Given the description of an element on the screen output the (x, y) to click on. 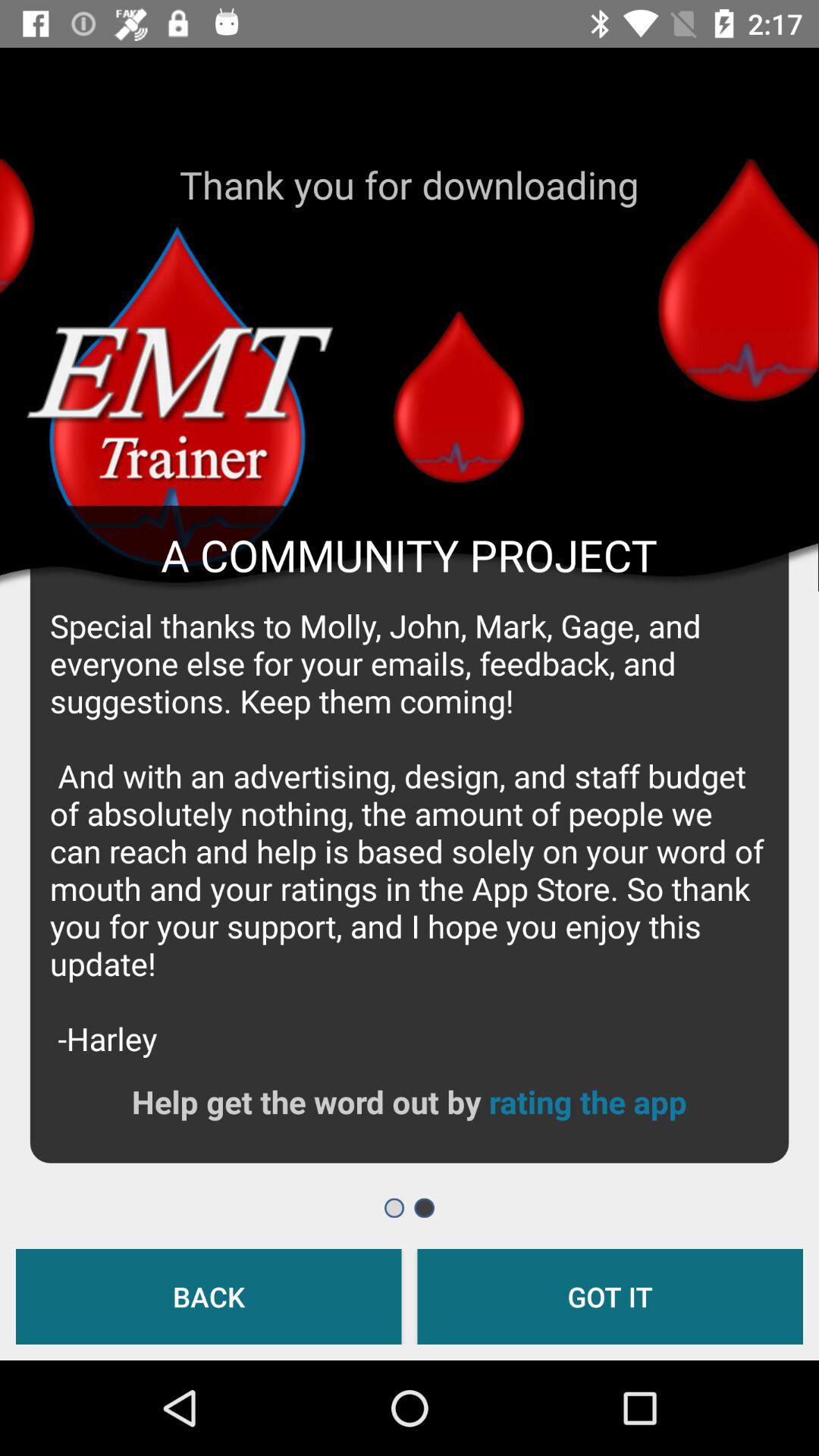
turn off item to the right of help get the item (588, 1101)
